Given the description of an element on the screen output the (x, y) to click on. 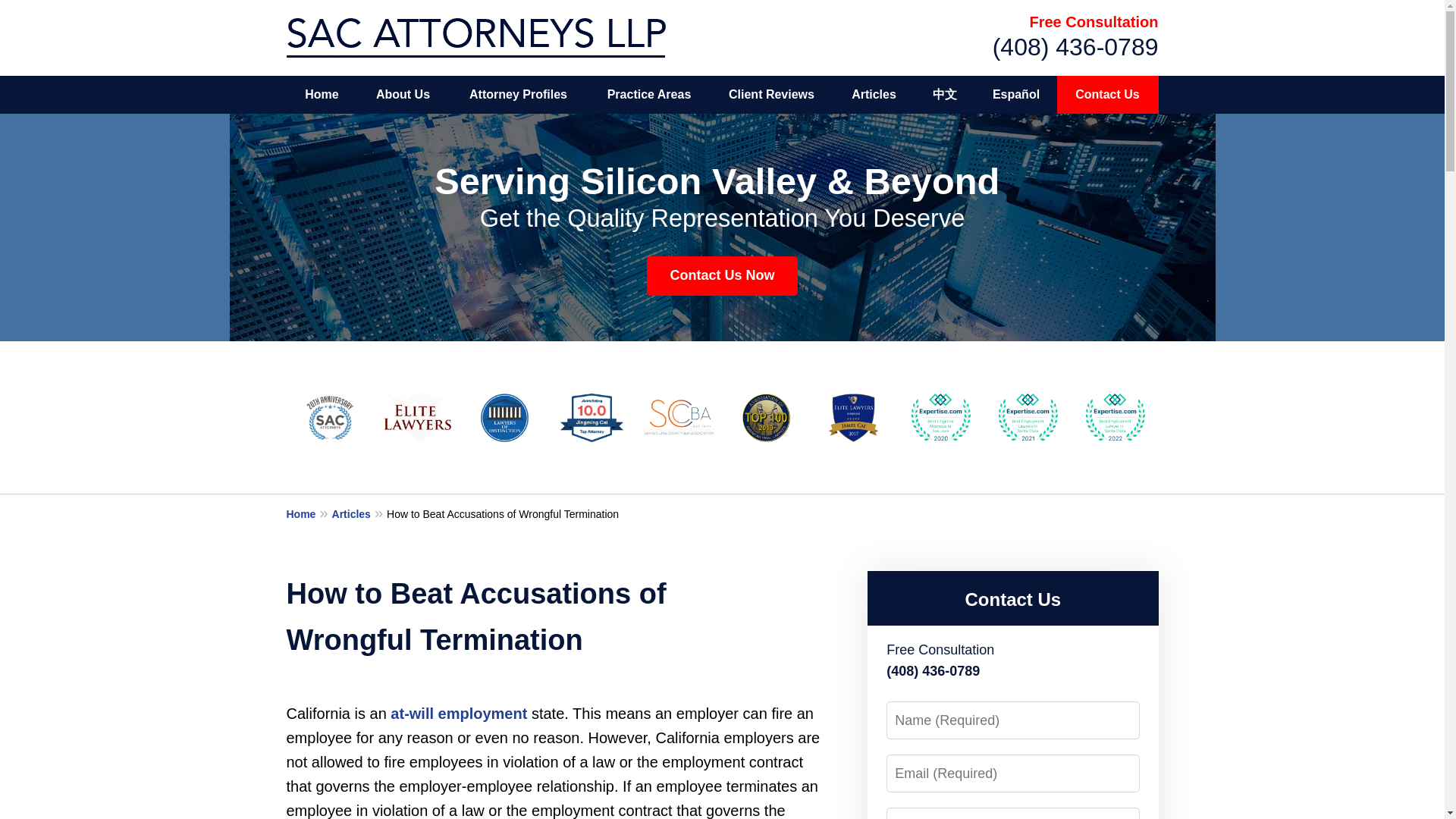
Home (308, 513)
Articles (359, 513)
Client Reviews (771, 94)
Home (322, 94)
About Us (402, 94)
Contact Us (1107, 94)
at-will employment (458, 713)
Practice Areas (649, 94)
Attorney Profiles (518, 94)
Free Consultation (1093, 21)
